Given the description of an element on the screen output the (x, y) to click on. 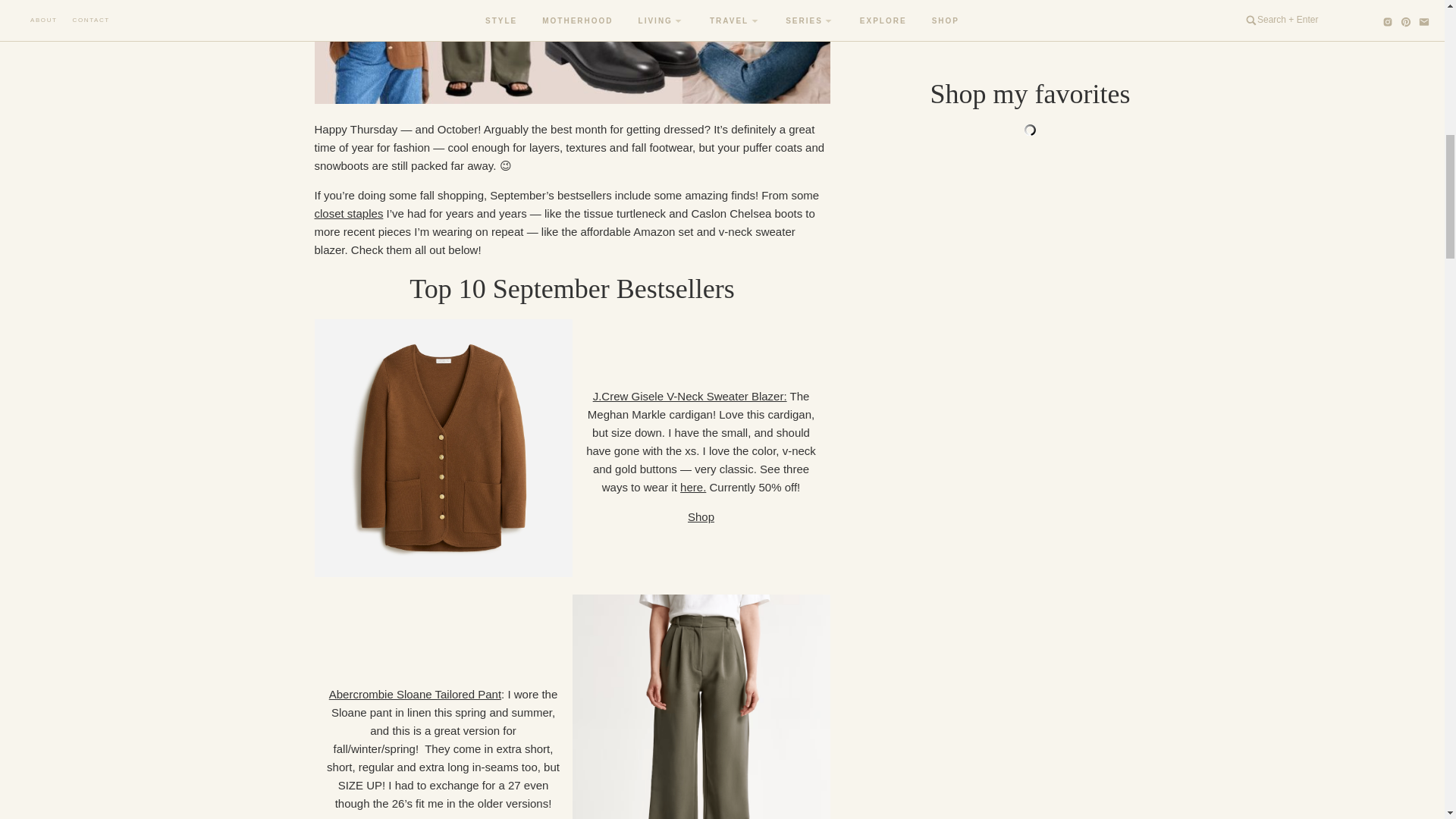
Abercrombie Sloane Tailored Pant (414, 694)
here. (692, 486)
closet staples (348, 213)
J.Crew Gisele V-Neck Sweater Blazer: (689, 395)
Shop (700, 516)
